Given the description of an element on the screen output the (x, y) to click on. 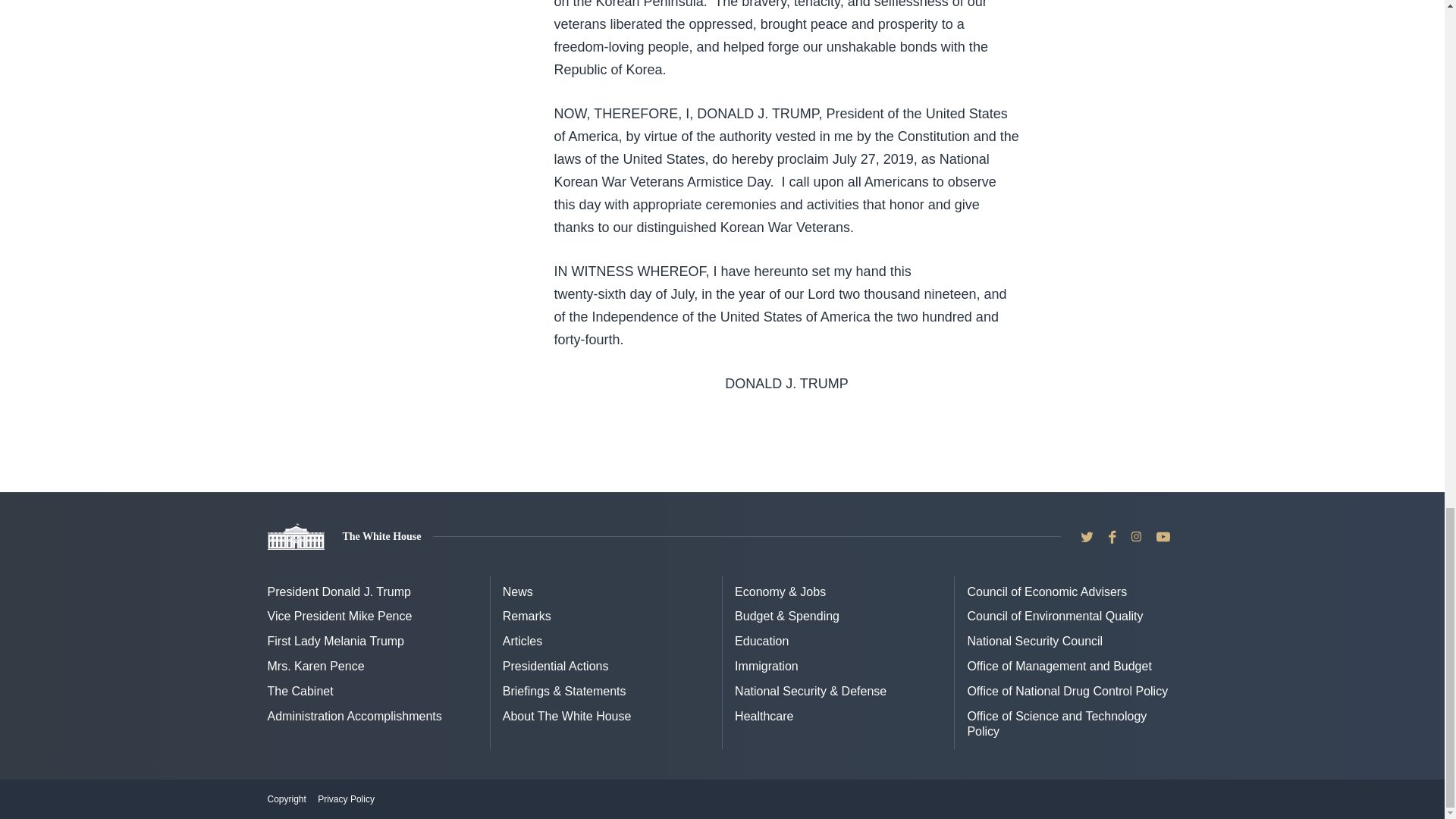
Immigration (766, 666)
The Cabinet (299, 690)
Mrs. Karen Pence (315, 666)
Presidential Actions (555, 666)
Vice President Mike Pence (339, 615)
Administration Accomplishments (353, 716)
Remarks (526, 615)
Articles (521, 640)
News (517, 591)
Education (762, 640)
Council of Economic Advisers (1046, 591)
Healthcare (764, 716)
President Donald J. Trump (338, 591)
About The White House (566, 716)
First Lady Melania Trump (335, 640)
